Given the description of an element on the screen output the (x, y) to click on. 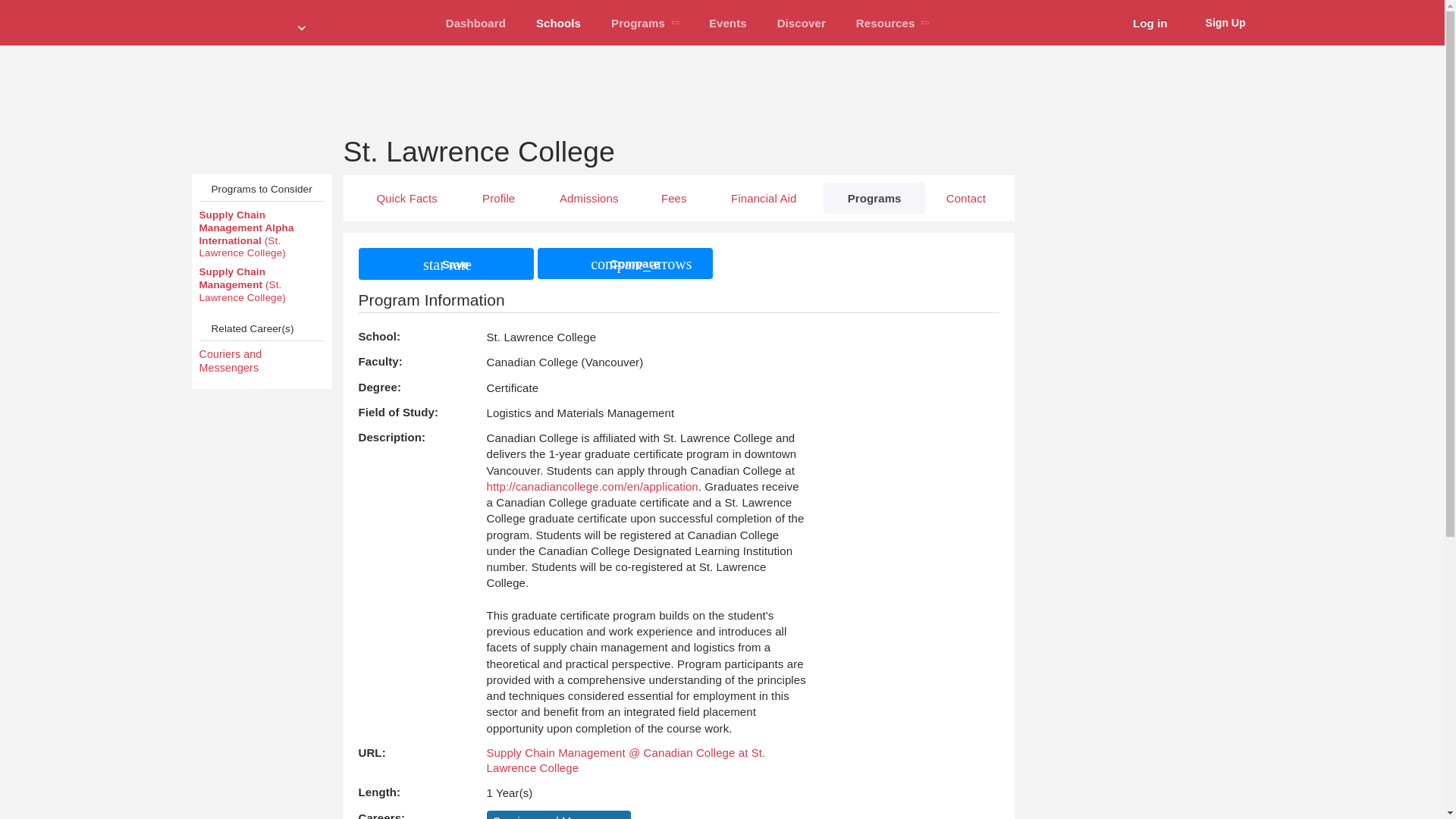
Events (727, 22)
Dashboard (475, 22)
Programs (644, 22)
Couriers and Messengers (260, 361)
Sign Up (1213, 22)
Discover (801, 22)
Admissions (588, 197)
mySTUFF (475, 22)
Save (445, 264)
Contact (965, 197)
Financial Aid (764, 197)
Compare (625, 263)
Quick Facts (406, 197)
Discover (801, 22)
Programs (874, 197)
